Given the description of an element on the screen output the (x, y) to click on. 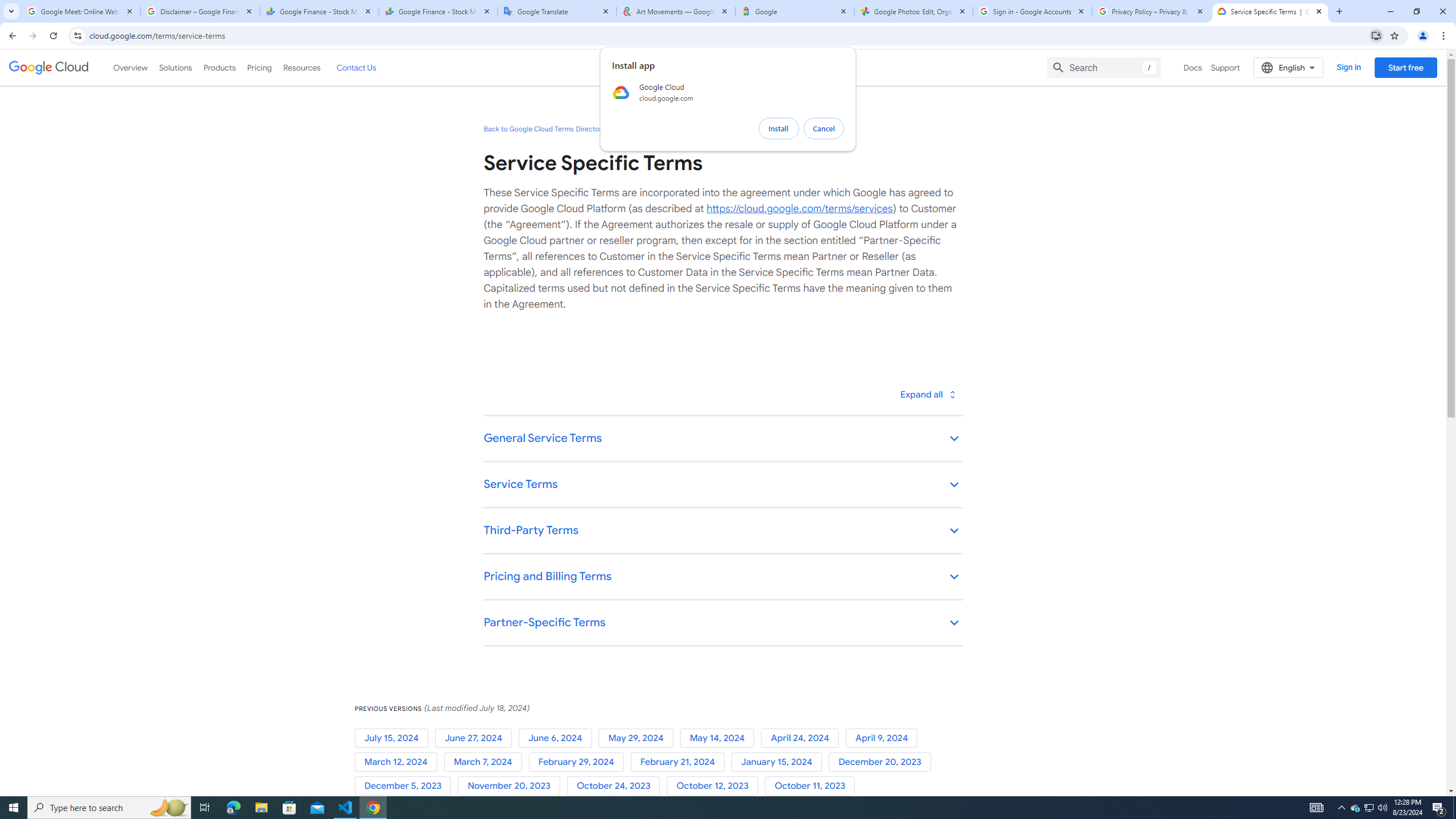
Google Cloud (48, 67)
Third-Party Terms keyboard_arrow_down (722, 531)
Google Translate (556, 11)
February 21, 2024 (680, 761)
General Service Terms keyboard_arrow_down (722, 439)
April 9, 2024 (883, 737)
Docs (1192, 67)
May 29, 2024 (638, 737)
Google (794, 11)
